Given the description of an element on the screen output the (x, y) to click on. 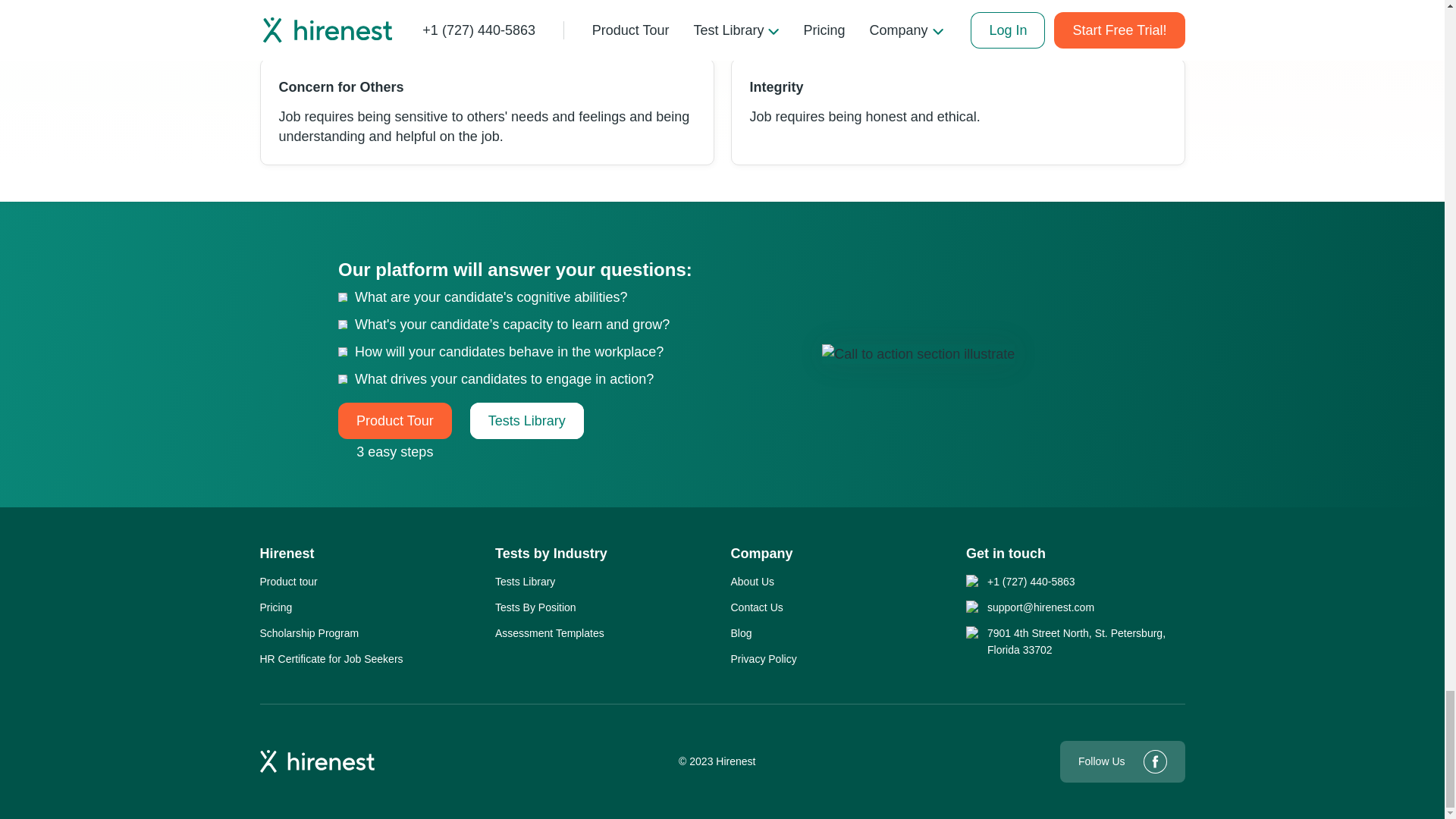
Tests by Industry (551, 553)
Tests Library (526, 420)
Contact Us (756, 606)
7901 4th Street North, St. Petersburg, Florida 33702 (1086, 641)
Product Tour (394, 420)
Tests Library (524, 581)
Blog (741, 632)
Pricing (275, 606)
Assessment Templates (549, 632)
Product tour (288, 581)
